Given the description of an element on the screen output the (x, y) to click on. 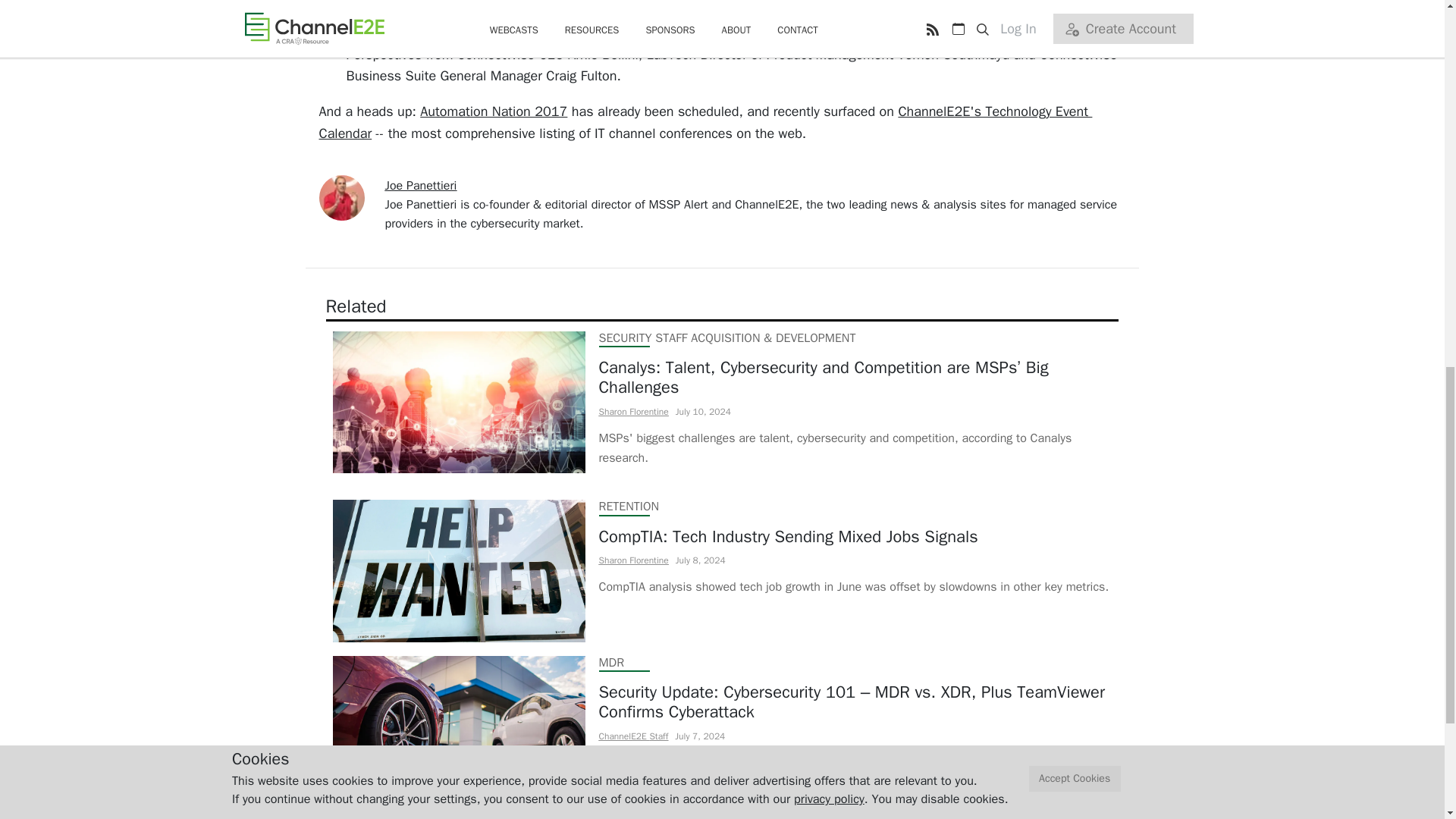
ChannelE2E Staff (633, 736)
Sharon Florentine (633, 560)
Sharon Florentine (633, 411)
Joe Panettieri (421, 185)
RETENTION (628, 506)
ChannelE2E's Technology Event Calendar (705, 122)
Automation Nation 2017 (493, 111)
CompTIA: Tech Industry Sending Mixed Jobs Signals (853, 537)
MDR (611, 662)
